Given the description of an element on the screen output the (x, y) to click on. 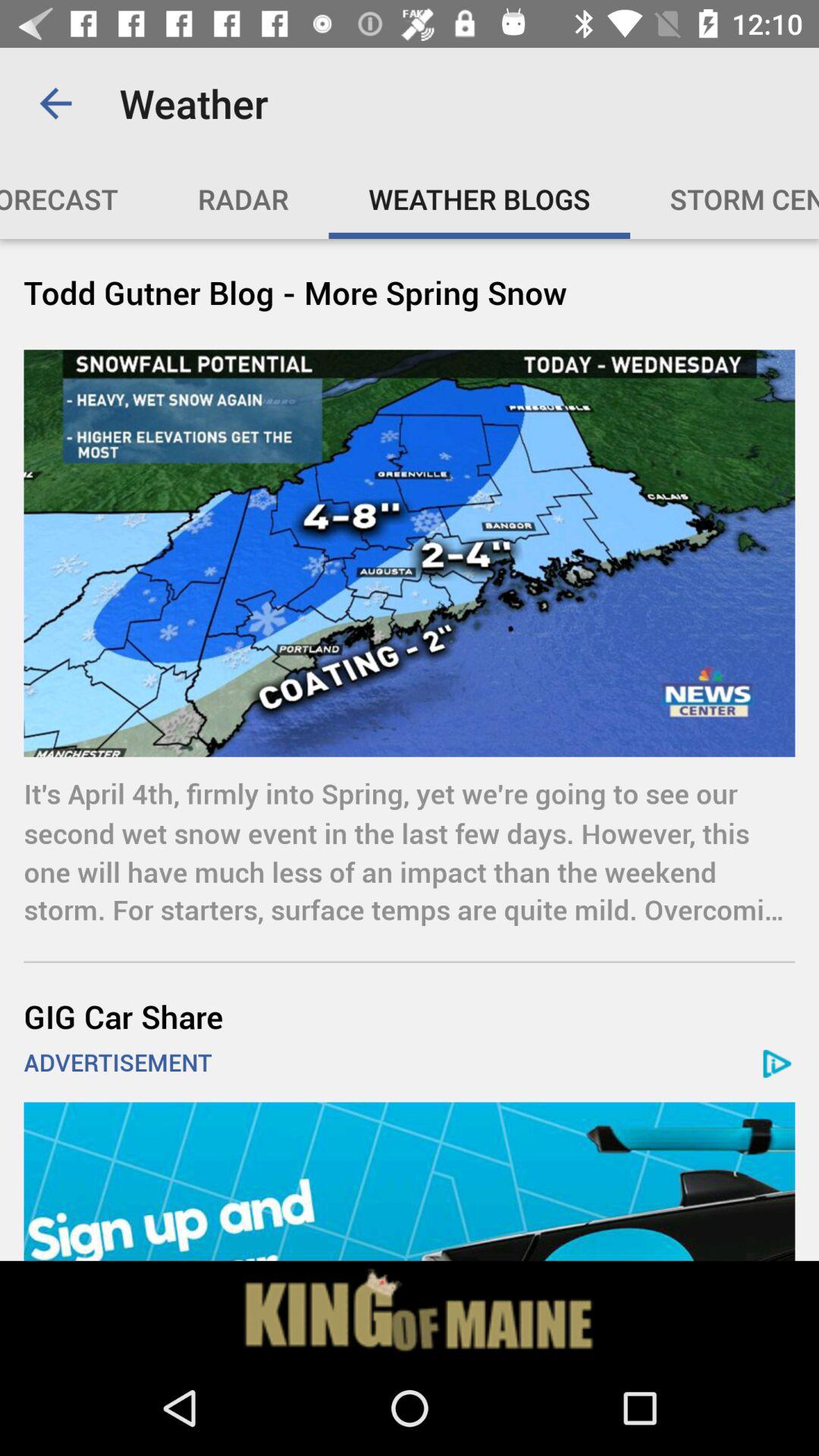
advertisement link (409, 1181)
